Given the description of an element on the screen output the (x, y) to click on. 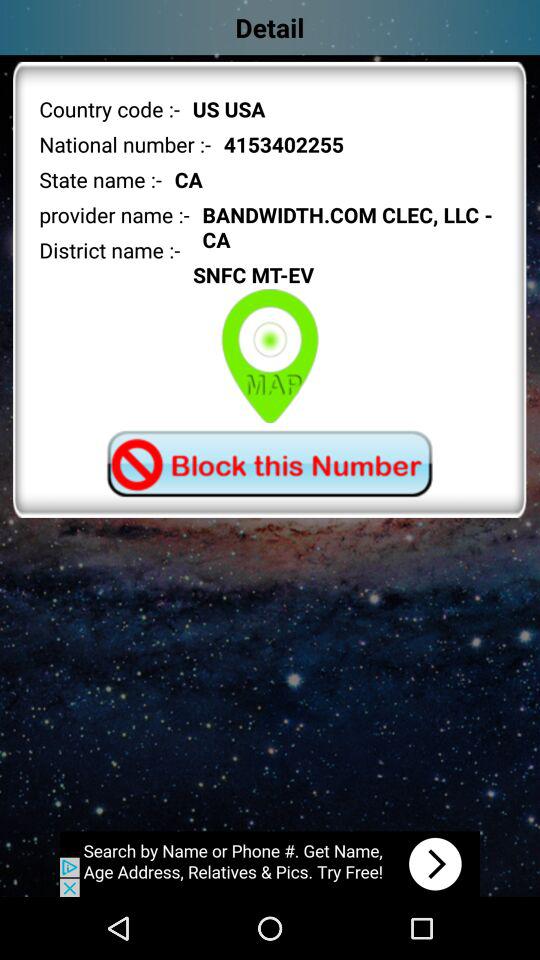
go to number block box (269, 463)
